Given the description of an element on the screen output the (x, y) to click on. 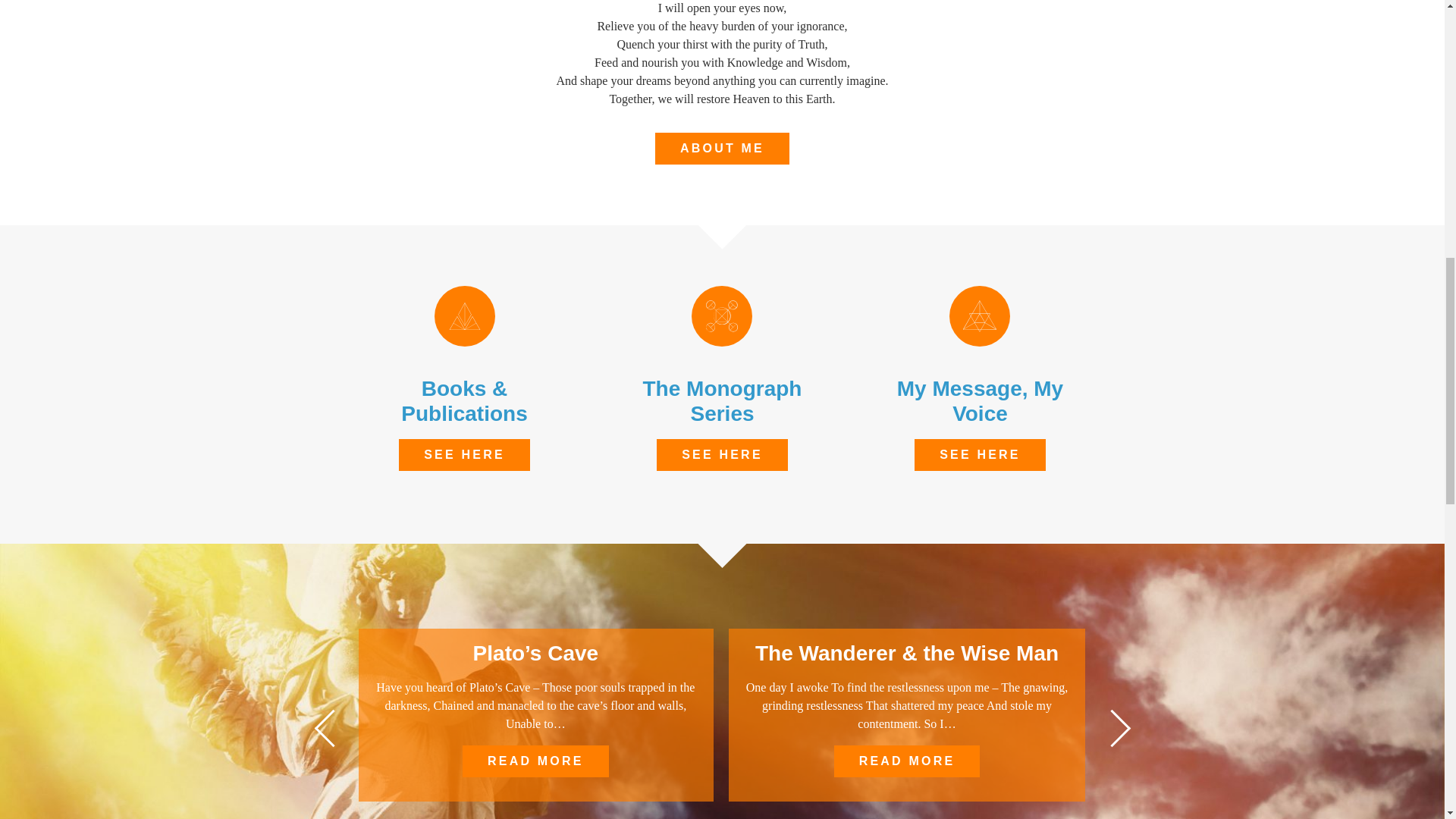
READ MORE (535, 761)
SEE HERE (721, 454)
ABOUT ME (722, 148)
Geometric-shape-37 (979, 315)
SEE HERE (979, 454)
Geometric-shape-38 (721, 315)
READ MORE (906, 761)
Geometric-shape-33 (464, 315)
SEE HERE (463, 454)
